Given the description of an element on the screen output the (x, y) to click on. 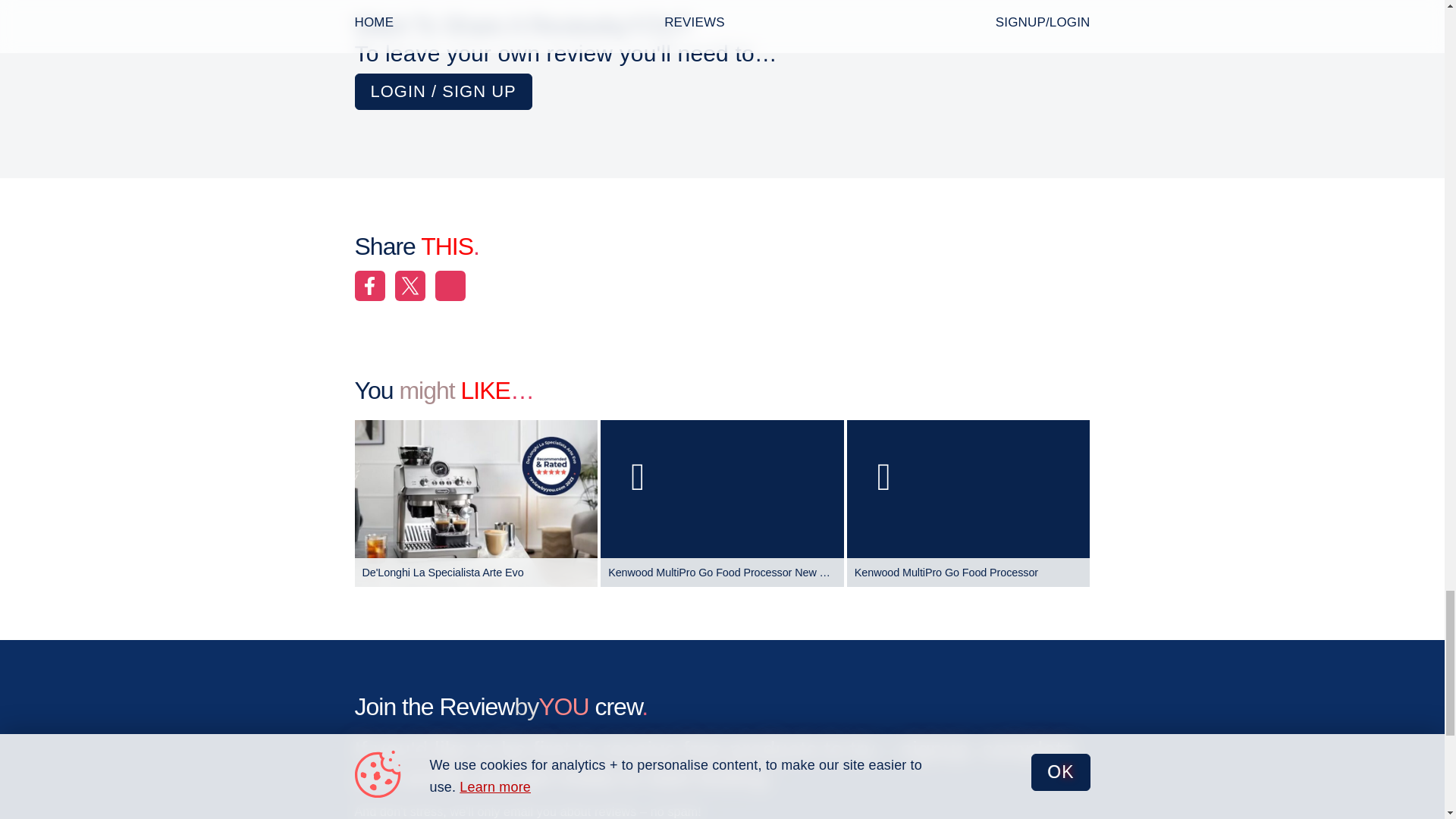
Kenwood MultiPro Go Food Processor New Zealand Review (721, 504)
Kenwood MultiPro Go Food Processor (968, 504)
De'Longhi La Specialista Arte Evo (476, 504)
